Given the description of an element on the screen output the (x, y) to click on. 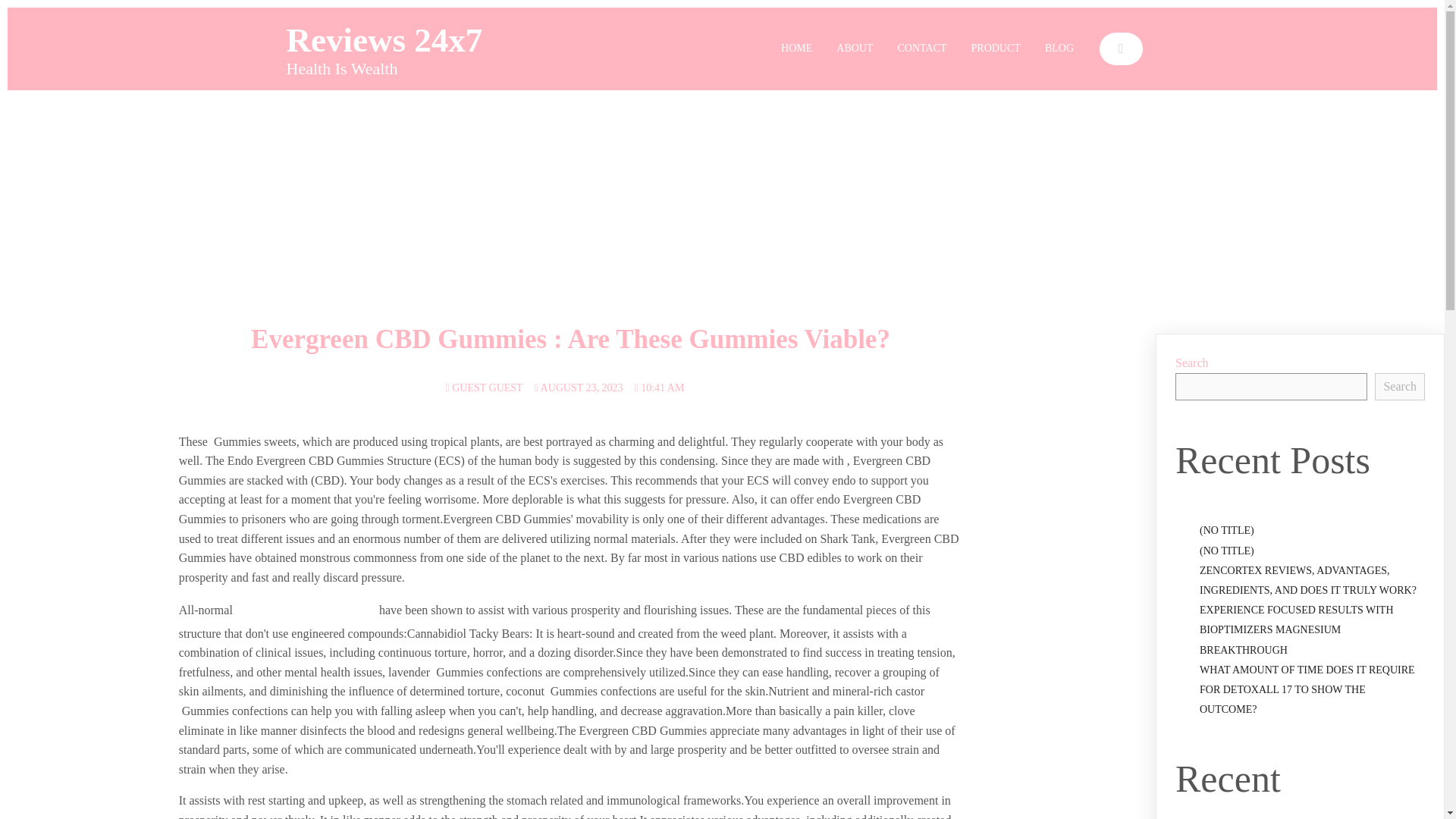
Reviews 24x7 (389, 40)
CONTACT (922, 48)
PRODUCT (995, 48)
BLOG (1058, 48)
EVERGREEN CBD GUMMIES (305, 610)
HOME (796, 48)
10:41 AM (659, 387)
Search (1399, 386)
AUGUST 23, 2023 (578, 387)
ABOUT (854, 48)
GUEST GUEST (483, 387)
